Given the description of an element on the screen output the (x, y) to click on. 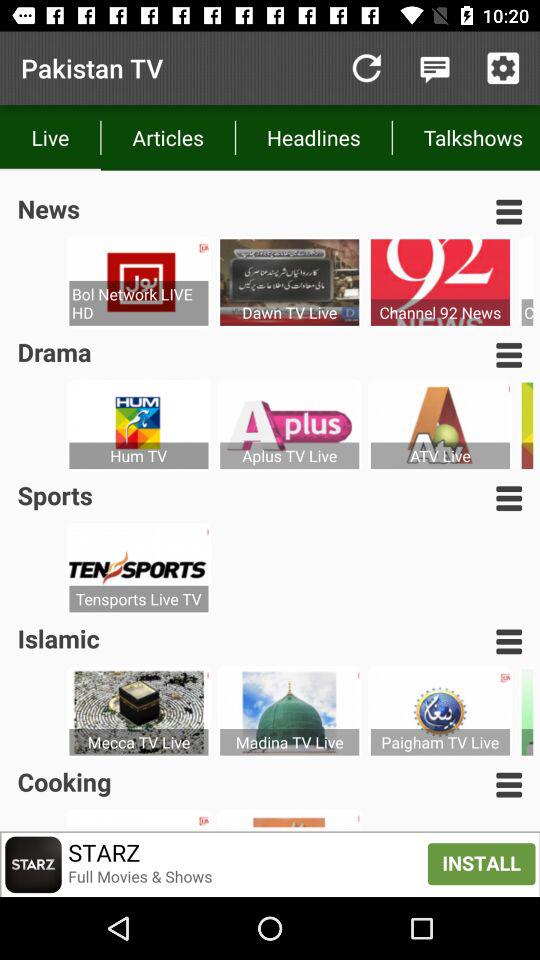
more option (509, 211)
